Given the description of an element on the screen output the (x, y) to click on. 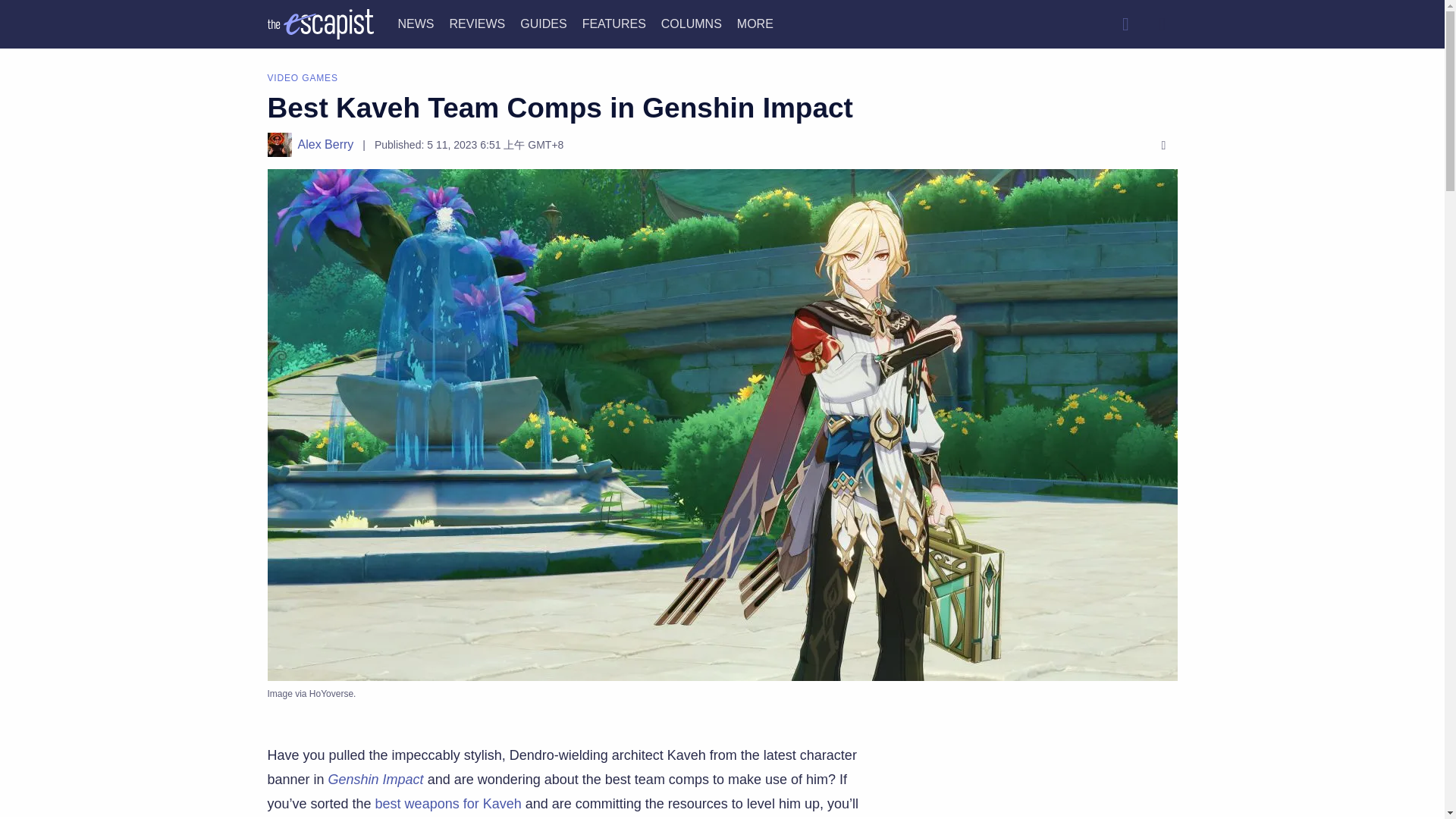
COLUMNS (691, 23)
Search (1124, 24)
REVIEWS (476, 23)
Dark Mode (1161, 24)
GUIDES (542, 23)
FEATURES (614, 23)
NEWS (415, 23)
